Given the description of an element on the screen output the (x, y) to click on. 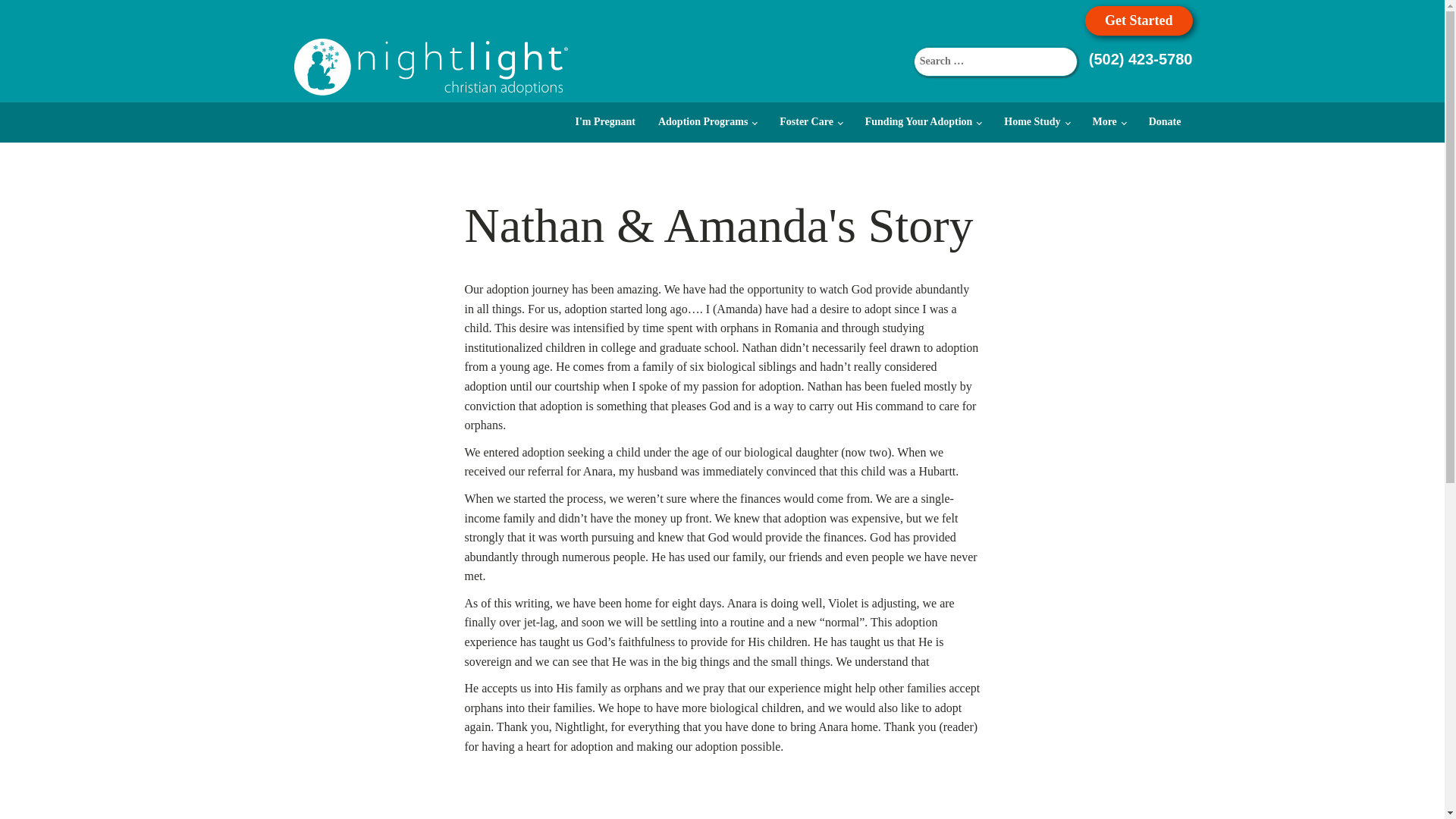
I'm Pregnant (605, 121)
Get Started (1138, 20)
Adoption Programs (707, 121)
Search (24, 14)
